Given the description of an element on the screen output the (x, y) to click on. 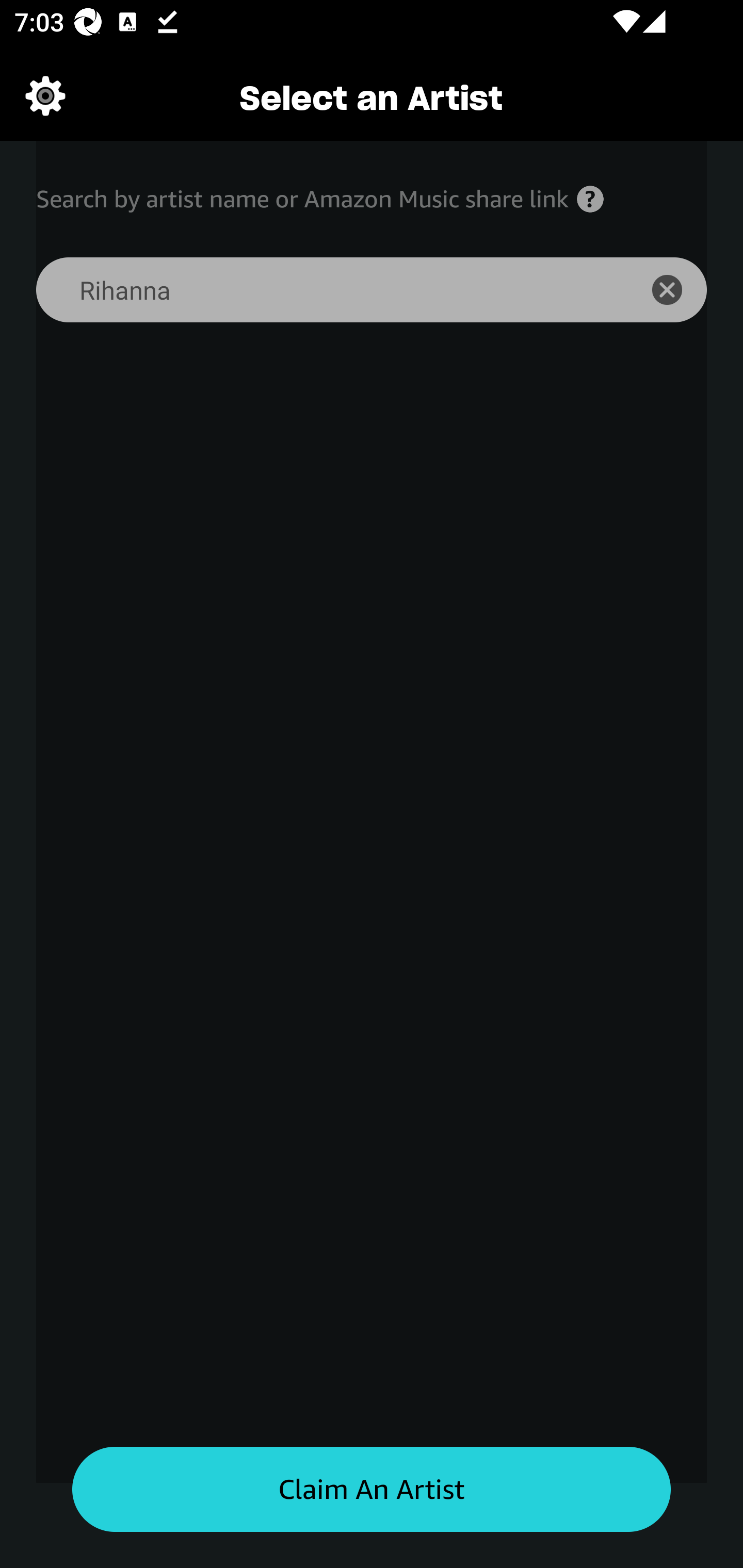
Help  icon (589, 199)
Rihanna Search for an artist search bar (324, 290)
 icon (677, 290)
Claim an artist button Claim An Artist (371, 1489)
